Given the description of an element on the screen output the (x, y) to click on. 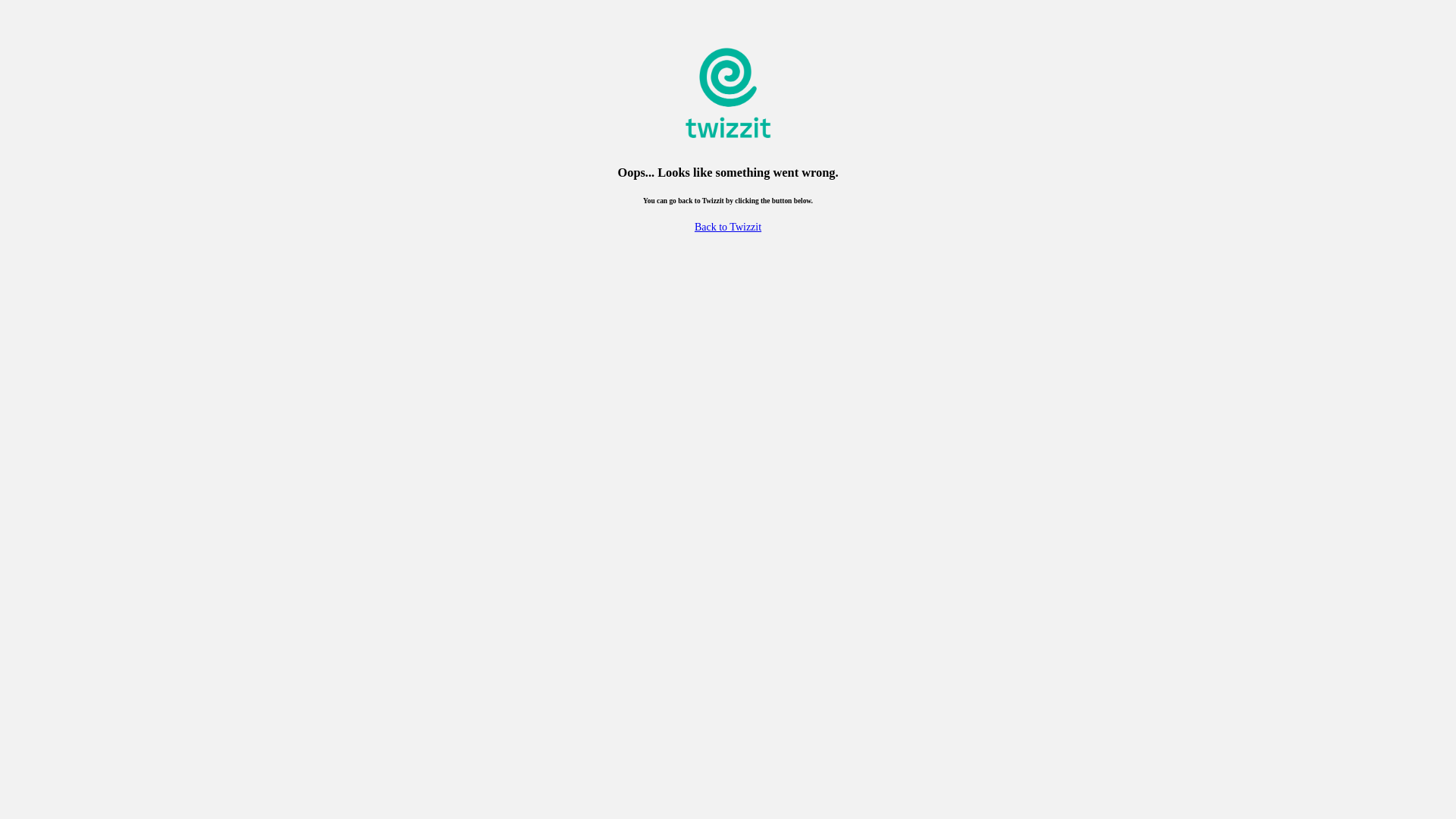
Back to Twizzit Element type: text (727, 226)
